Given the description of an element on the screen output the (x, y) to click on. 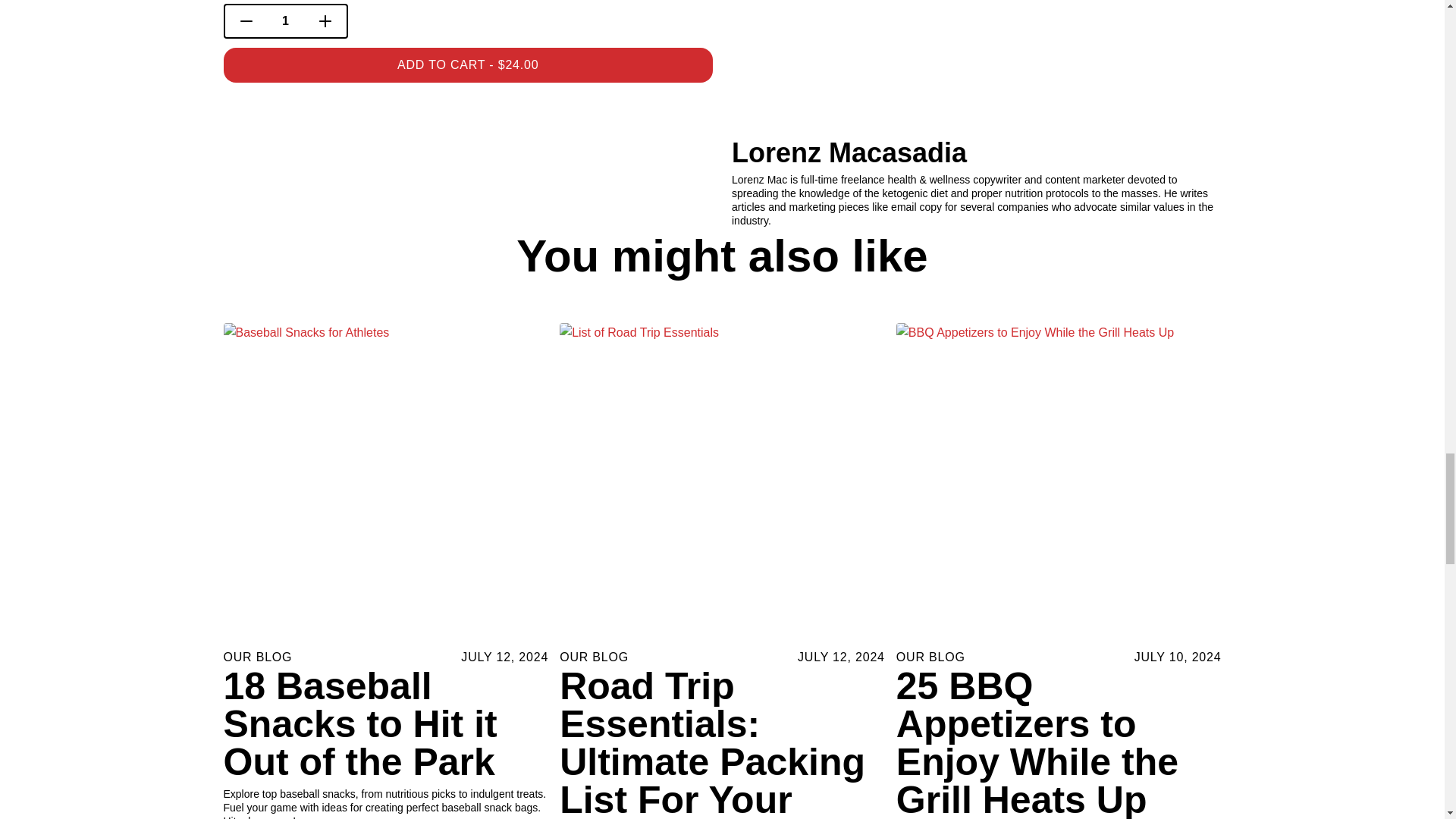
1 (285, 21)
